Given the description of an element on the screen output the (x, y) to click on. 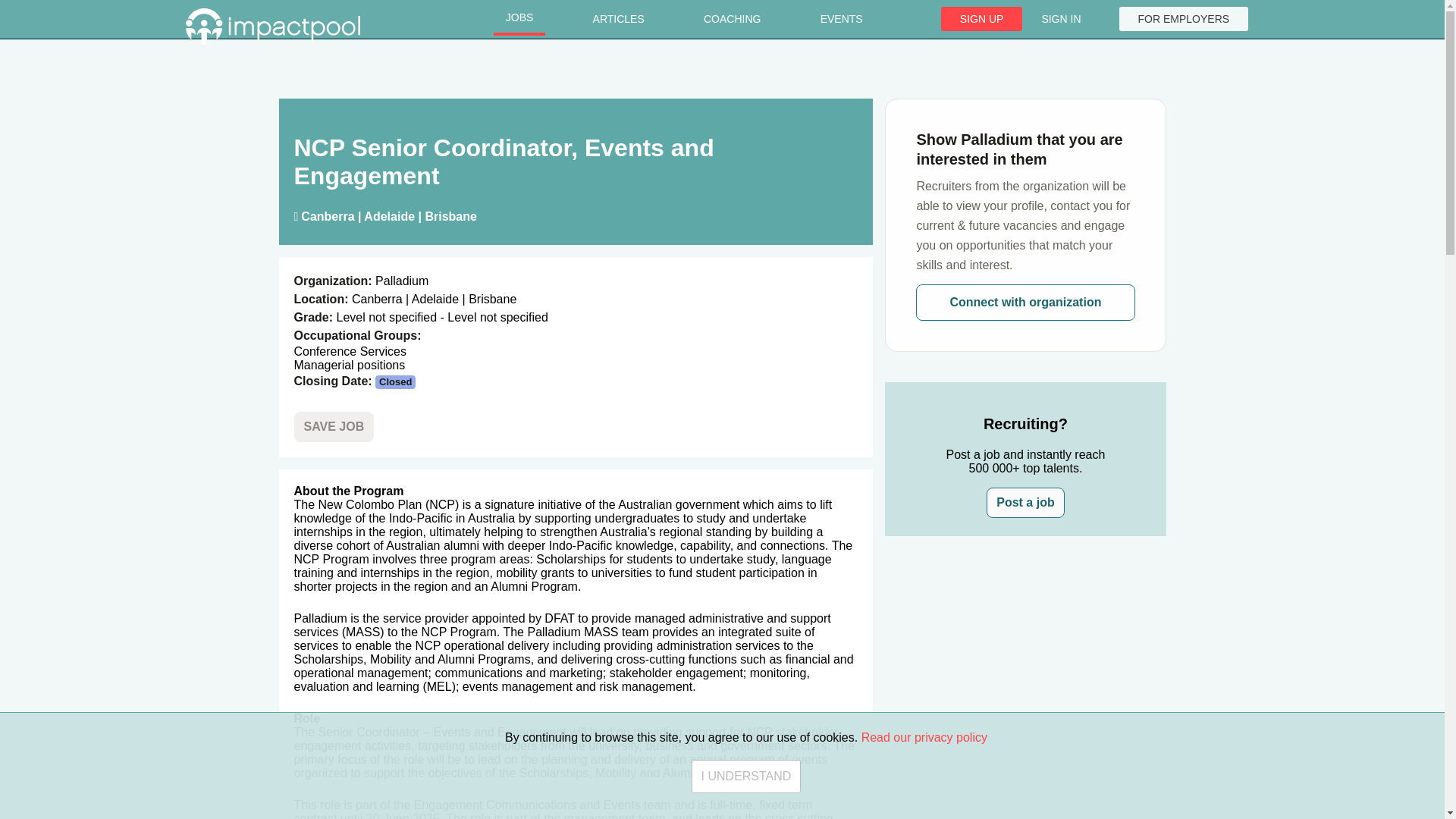
JOBS (519, 19)
ARTICLES (618, 19)
SIGN UP (981, 18)
Post a job (1025, 502)
EVENTS (841, 19)
SIGN IN (1060, 18)
SAVE JOB (334, 426)
COACHING (732, 19)
FOR EMPLOYERS (1184, 18)
Connect with organization (1024, 302)
